Given the description of an element on the screen output the (x, y) to click on. 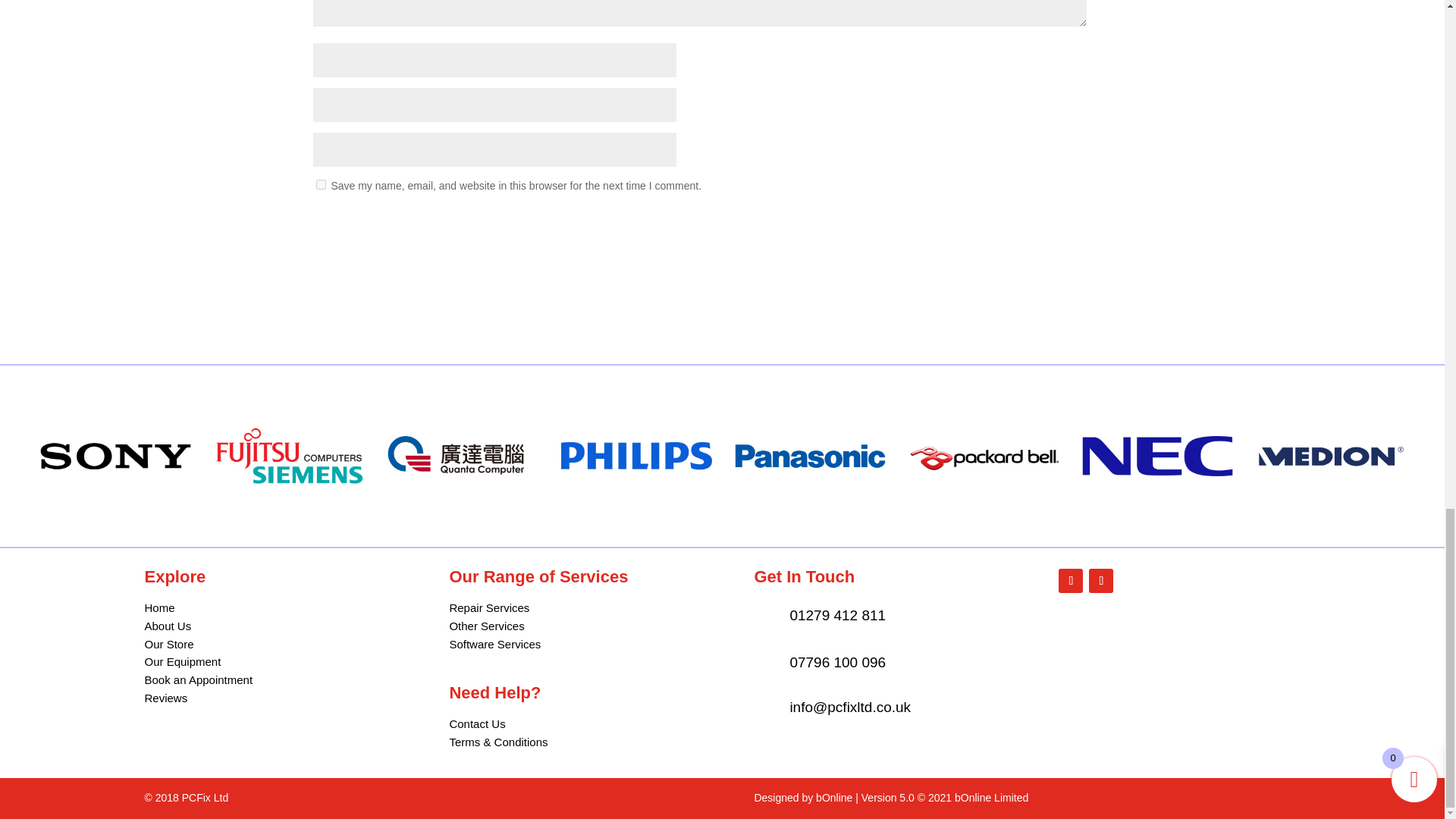
Submit Comment (1011, 225)
yes (319, 184)
